Given the description of an element on the screen output the (x, y) to click on. 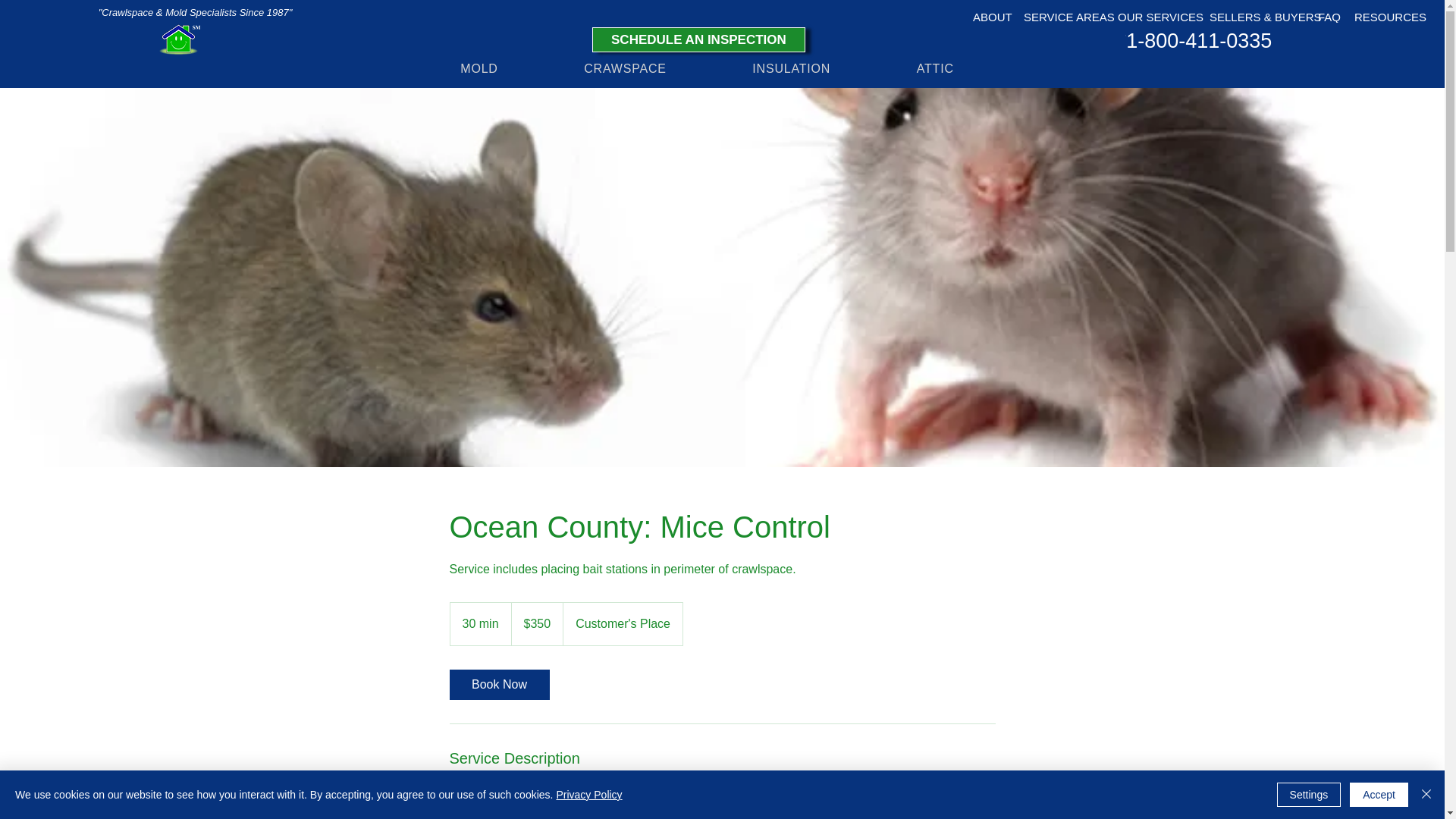
SCHEDULE AN INSPECTION (698, 39)
FAQ (1328, 16)
SERVICE AREAS (1062, 16)
ABOUT (990, 16)
1-800-411-0335 (1198, 40)
